Given the description of an element on the screen output the (x, y) to click on. 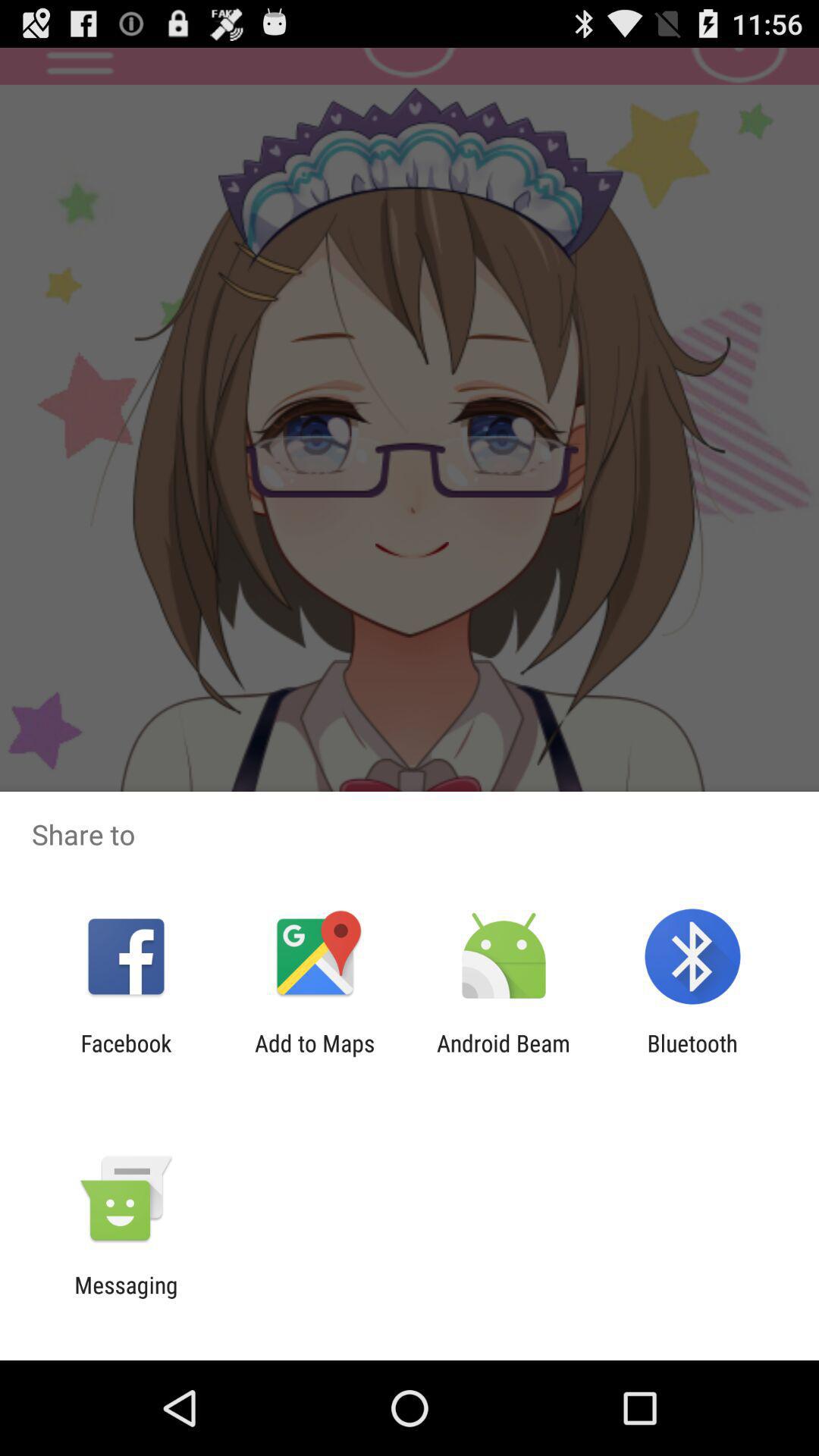
turn on the item next to add to maps app (125, 1056)
